Given the description of an element on the screen output the (x, y) to click on. 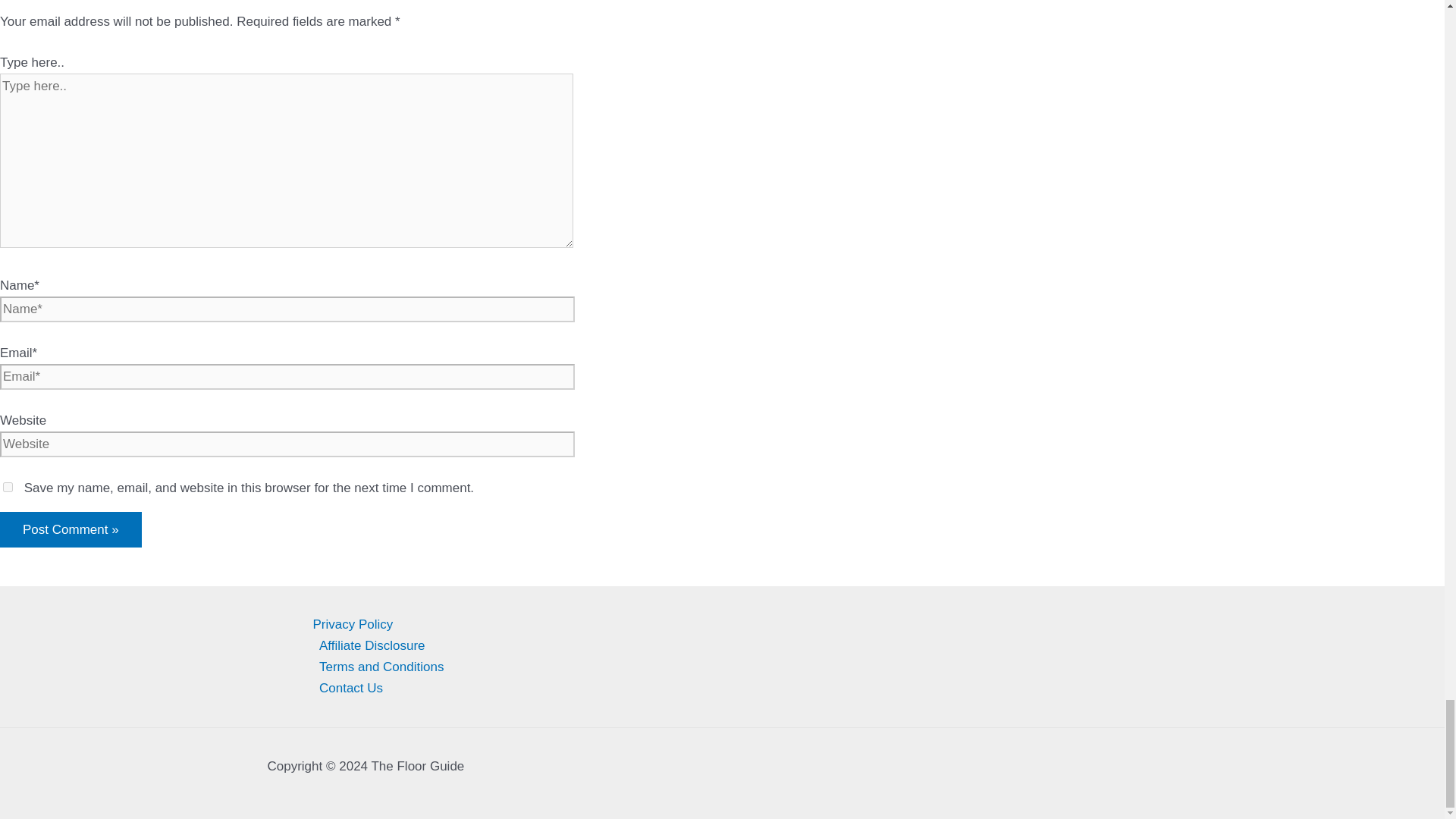
yes (7, 487)
Terms and Conditions (744, 667)
Affiliate Disclosure (744, 645)
Privacy Policy (744, 624)
Contact Us (744, 688)
